Given the description of an element on the screen output the (x, y) to click on. 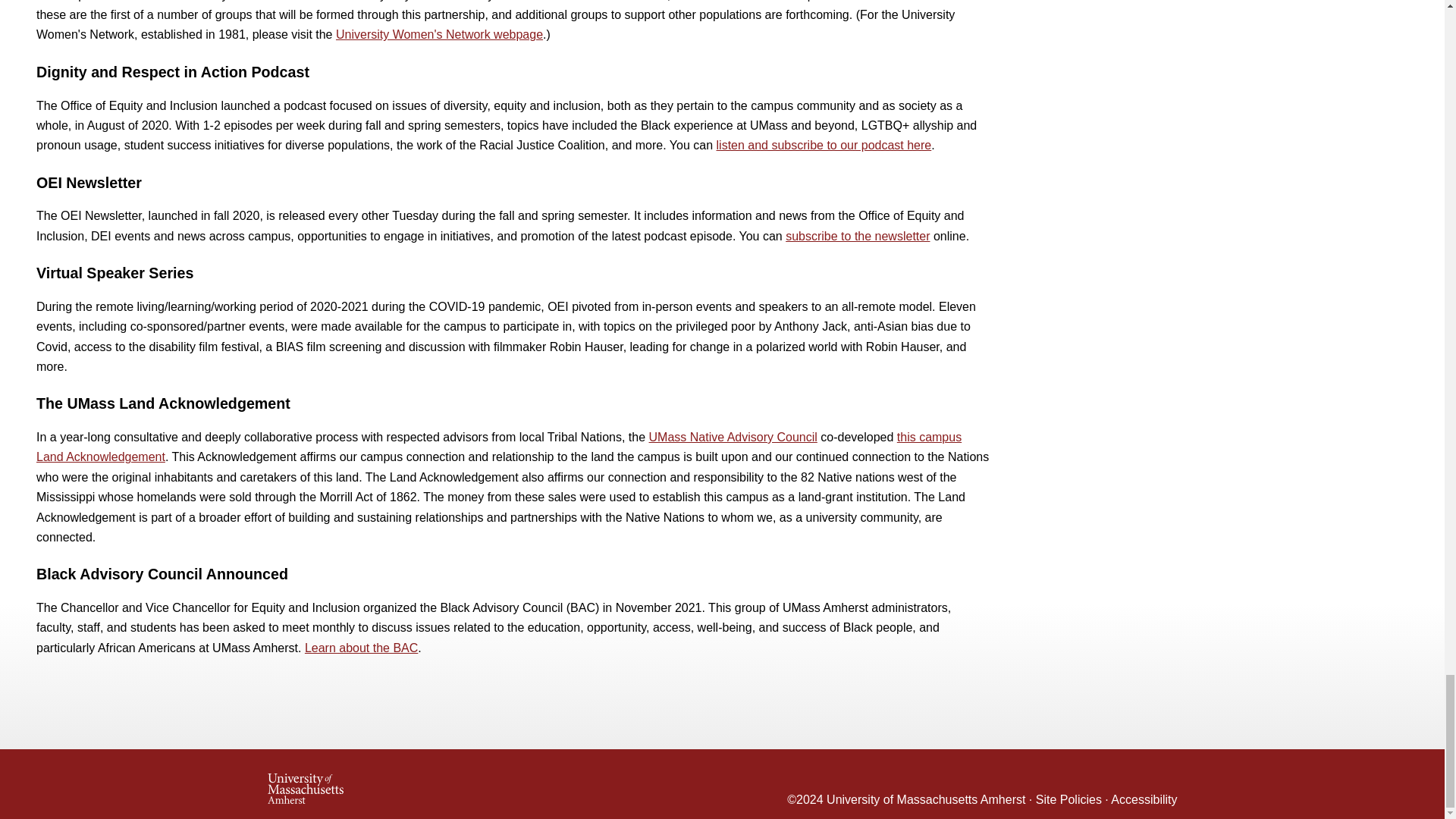
University of Massachusetts Amherst (494, 783)
